Given the description of an element on the screen output the (x, y) to click on. 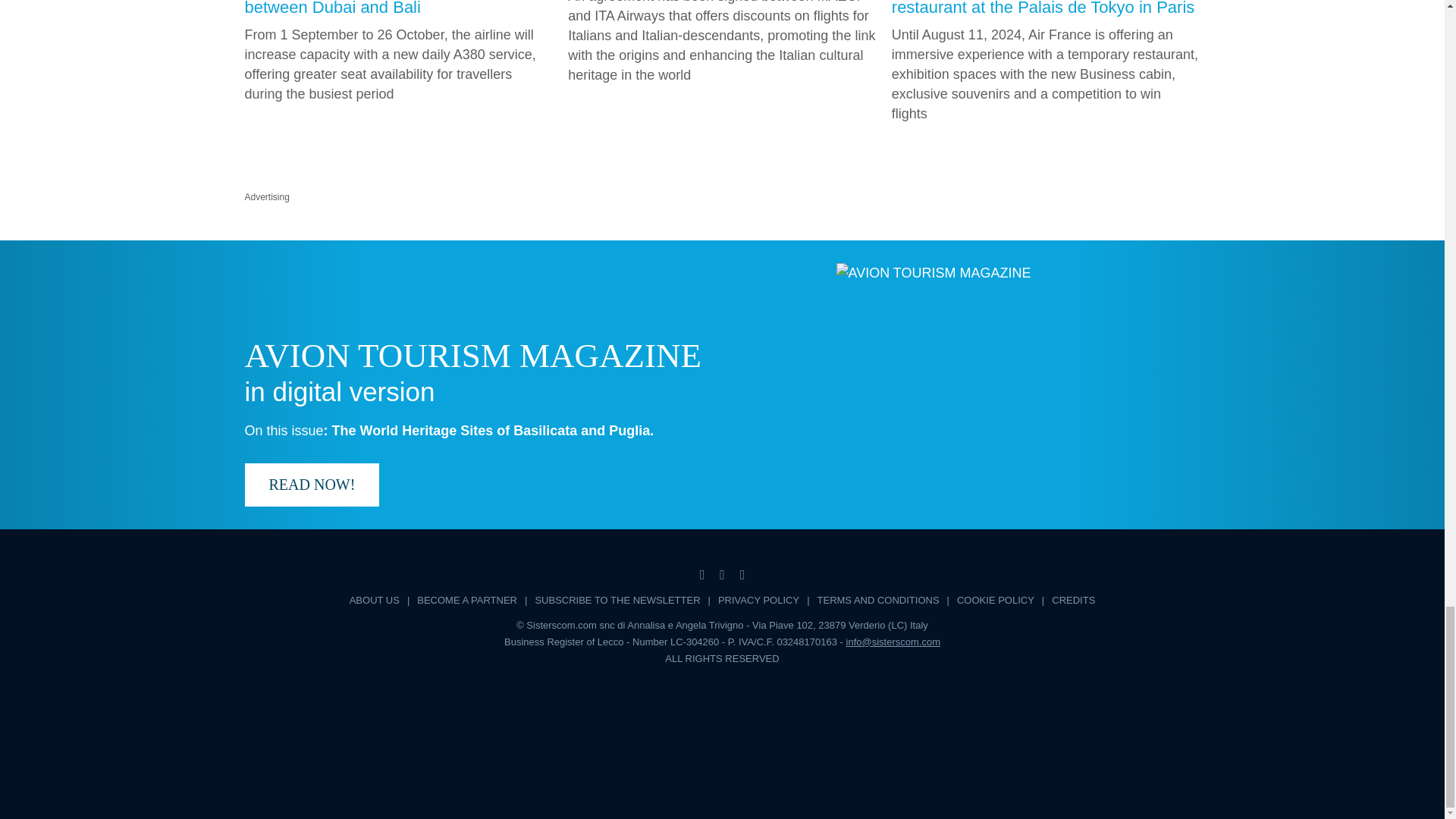
READ NOW! (311, 484)
